Given the description of an element on the screen output the (x, y) to click on. 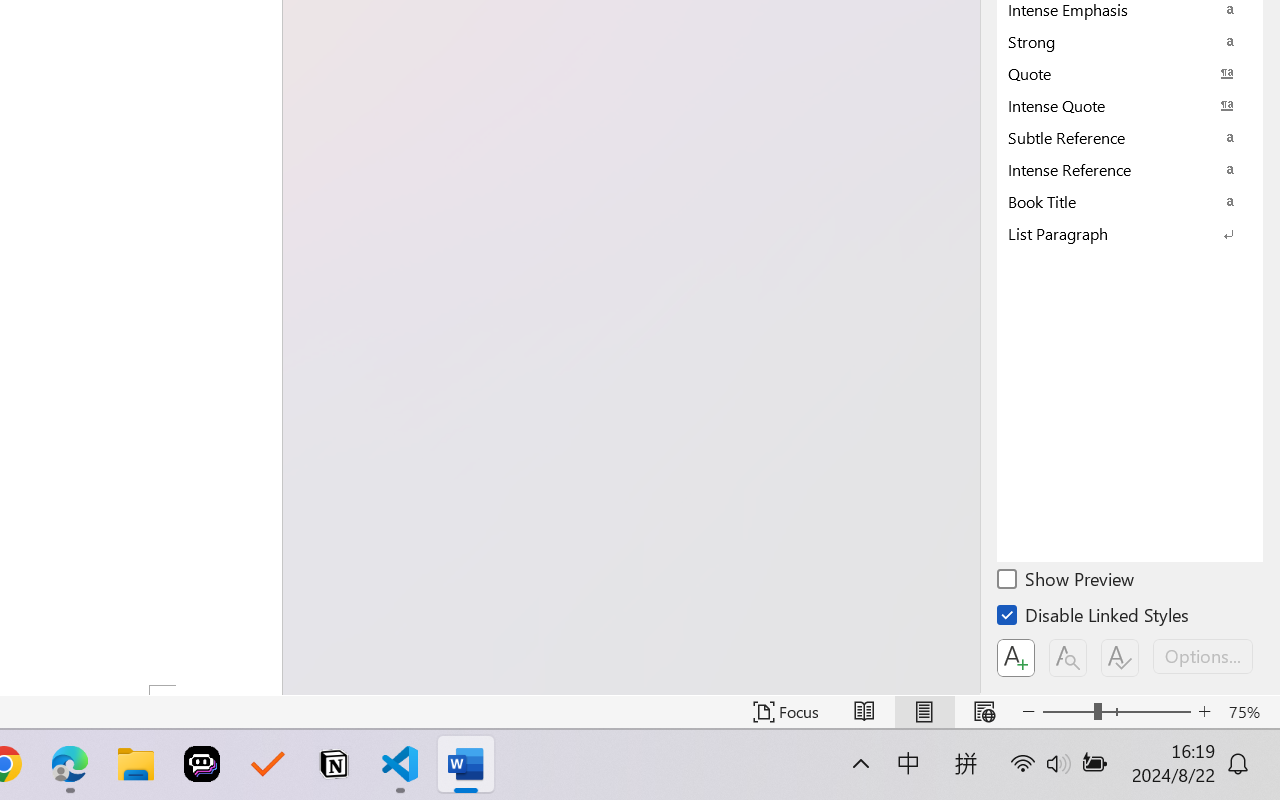
Book Title (1130, 201)
Class: NetUIButton (1119, 657)
Show Preview (1067, 582)
Subtle Reference (1130, 137)
Intense Reference (1130, 169)
Strong (1130, 41)
Intense Quote (1130, 105)
List Paragraph (1130, 233)
Zoom 75% (1249, 712)
Quote (1130, 73)
